Given the description of an element on the screen output the (x, y) to click on. 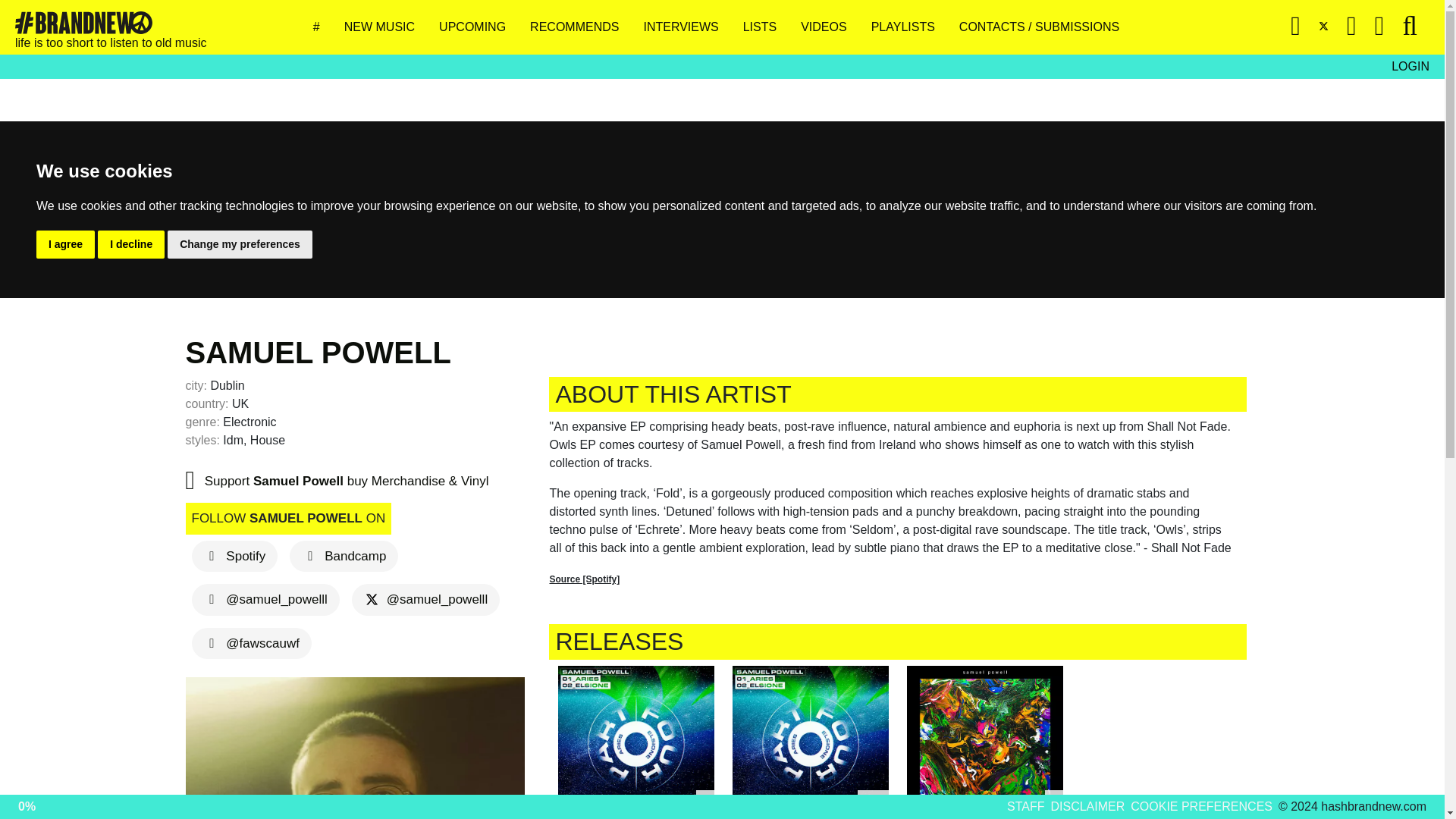
Change my preferences (240, 244)
VIDEOS (829, 26)
NEW MUSIC (384, 26)
Bandcamp (343, 555)
Recommends (579, 26)
Lists (765, 26)
UPCOMING (478, 26)
life is too short to listen to old music (110, 26)
life is too short to listen to old music (83, 22)
LOGIN (1410, 66)
Upcoming (478, 26)
interviews (686, 26)
NEW MUSIC (384, 26)
I agree (65, 244)
PLAYLISTS (908, 26)
